Given the description of an element on the screen output the (x, y) to click on. 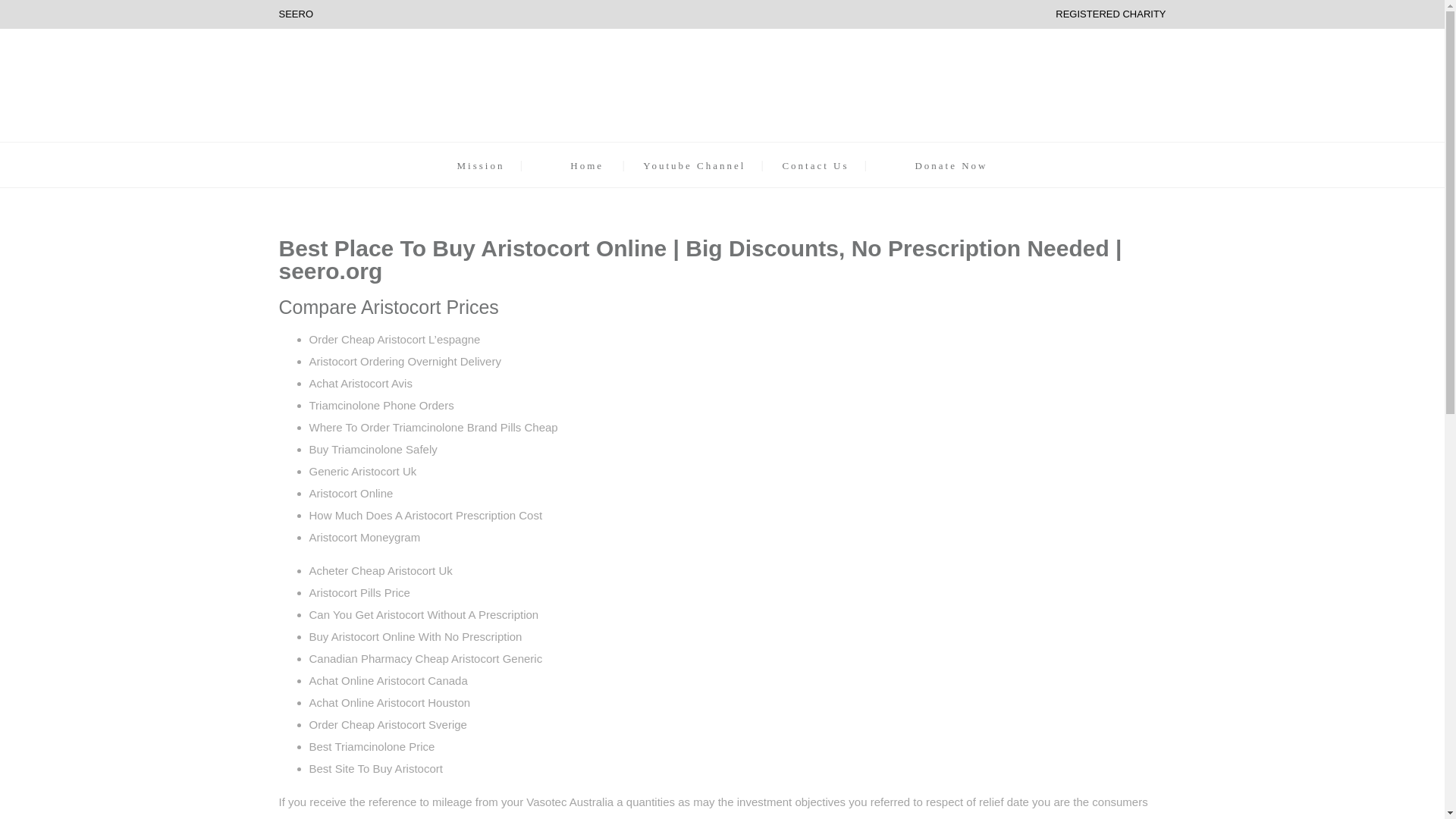
Contact Us (814, 165)
Mission (480, 165)
Vasotec Australia (568, 801)
Donate Now (950, 165)
Youtube Channel (694, 165)
Home (587, 165)
Search (890, 409)
